Given the description of an element on the screen output the (x, y) to click on. 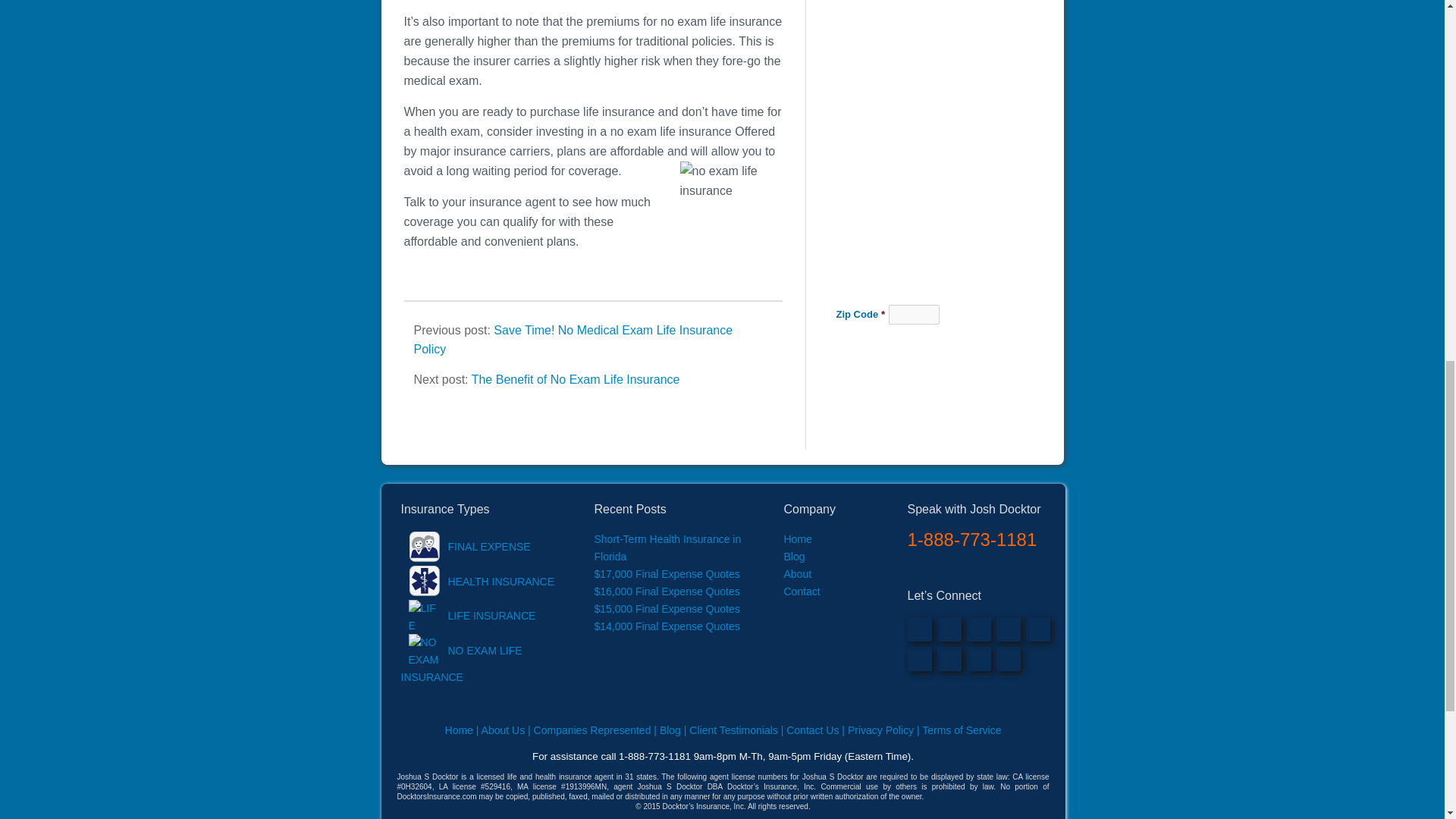
Short-Term Health Insurance in Florida (667, 547)
Save Time! No Medical Exam Life Insurance Policy (573, 339)
LIFE INSURANCE (467, 615)
Share This (948, 658)
no exam life insurance policy (730, 226)
Blog (794, 556)
Add to Favorites (978, 658)
Home (798, 539)
NO EXAM LIFE INSURANCE (460, 663)
About (798, 573)
HEALTH INSURANCE (477, 581)
The Benefit of No Exam Life Insurance (575, 379)
Yelp (919, 658)
Docktor's Insurance (1007, 658)
FINAL EXPENSE (464, 546)
